Given the description of an element on the screen output the (x, y) to click on. 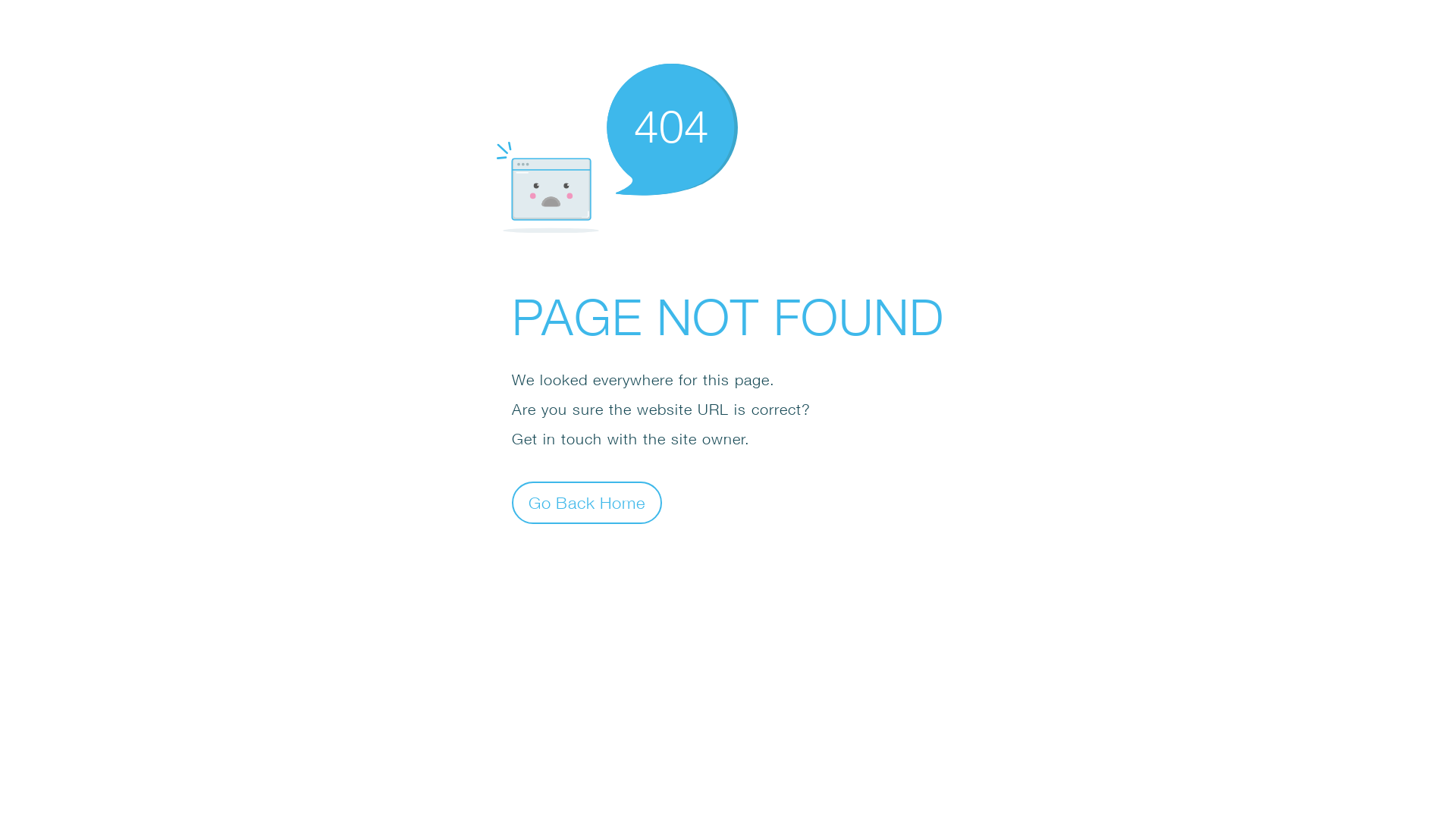
Go Back Home Element type: text (586, 502)
